Given the description of an element on the screen output the (x, y) to click on. 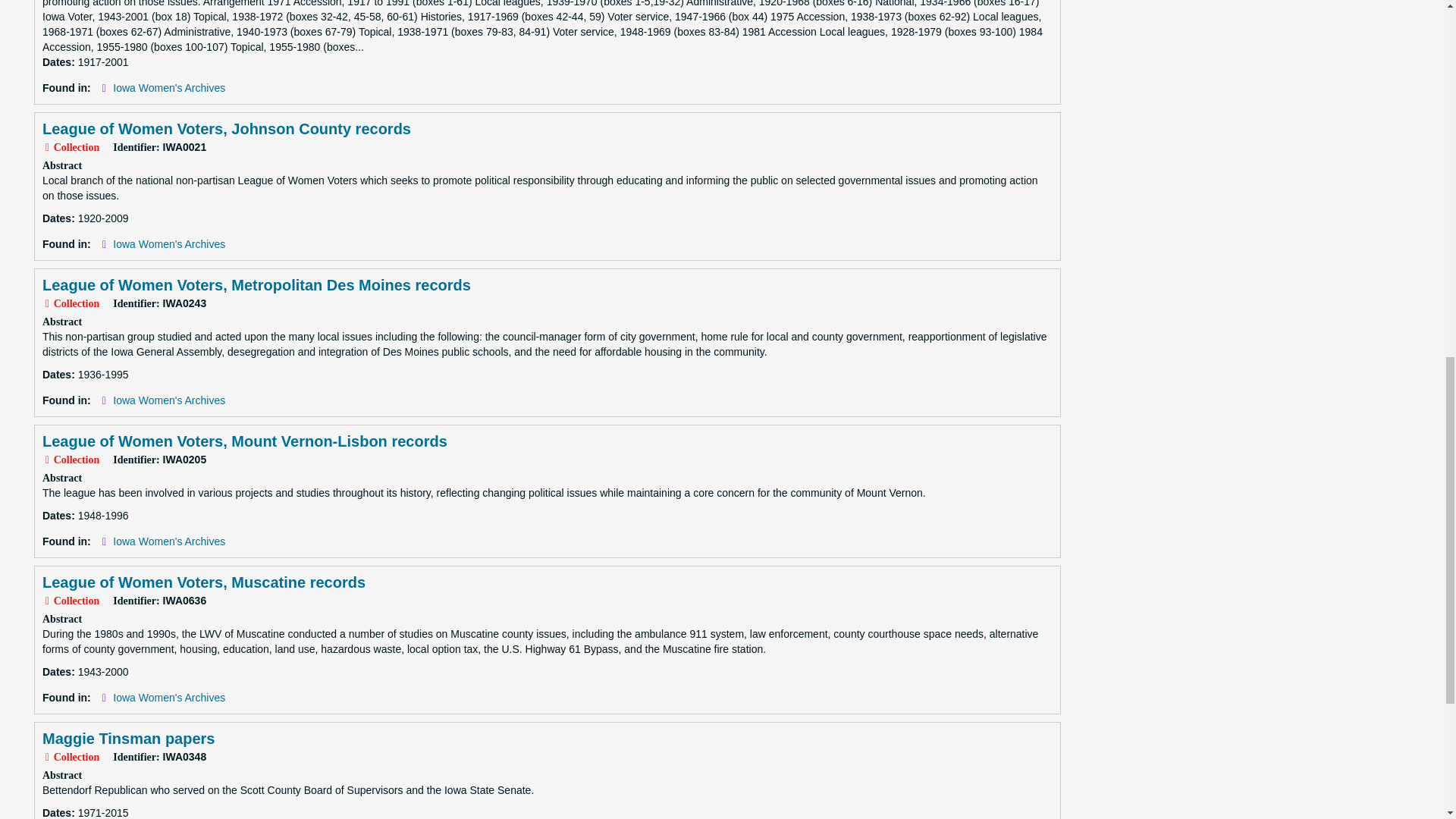
League of Women Voters, Johnson County records (226, 128)
Maggie Tinsman papers (128, 738)
Iowa Women's Archives (169, 541)
Iowa Women's Archives (169, 244)
Iowa Women's Archives (169, 399)
League of Women Voters, Muscatine records (203, 582)
League of Women Voters, Metropolitan Des Moines records (256, 284)
Iowa Women's Archives (169, 697)
Iowa Women's Archives (169, 87)
League of Women Voters, Mount Vernon-Lisbon records (244, 441)
